Given the description of an element on the screen output the (x, y) to click on. 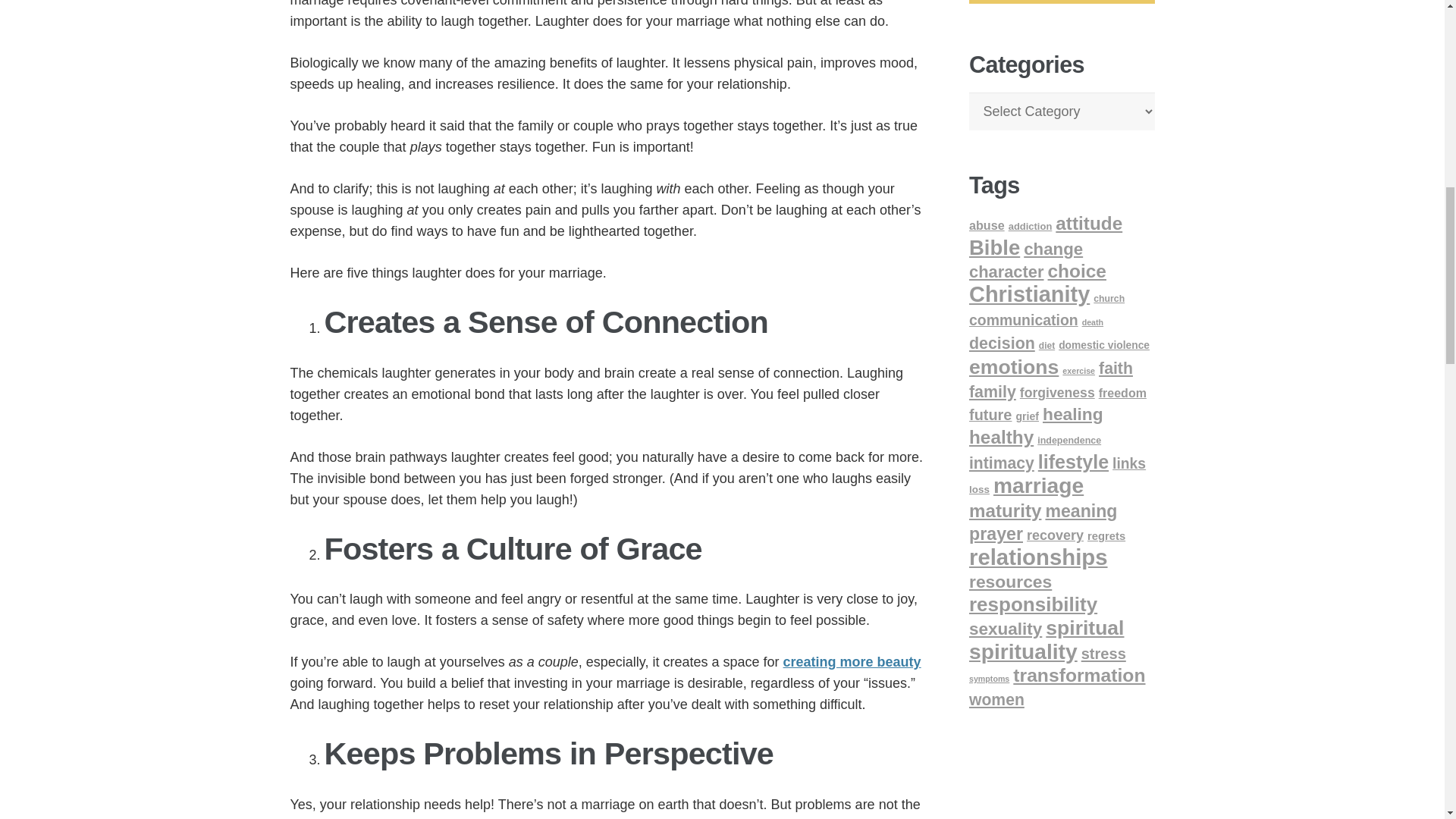
change (1053, 248)
addiction (1030, 225)
abuse (986, 224)
Bible (994, 247)
choice (1077, 271)
Christianity (1029, 293)
attitude (1088, 222)
creating more beauty (852, 661)
Back to top (1413, 26)
character (1006, 271)
